Given the description of an element on the screen output the (x, y) to click on. 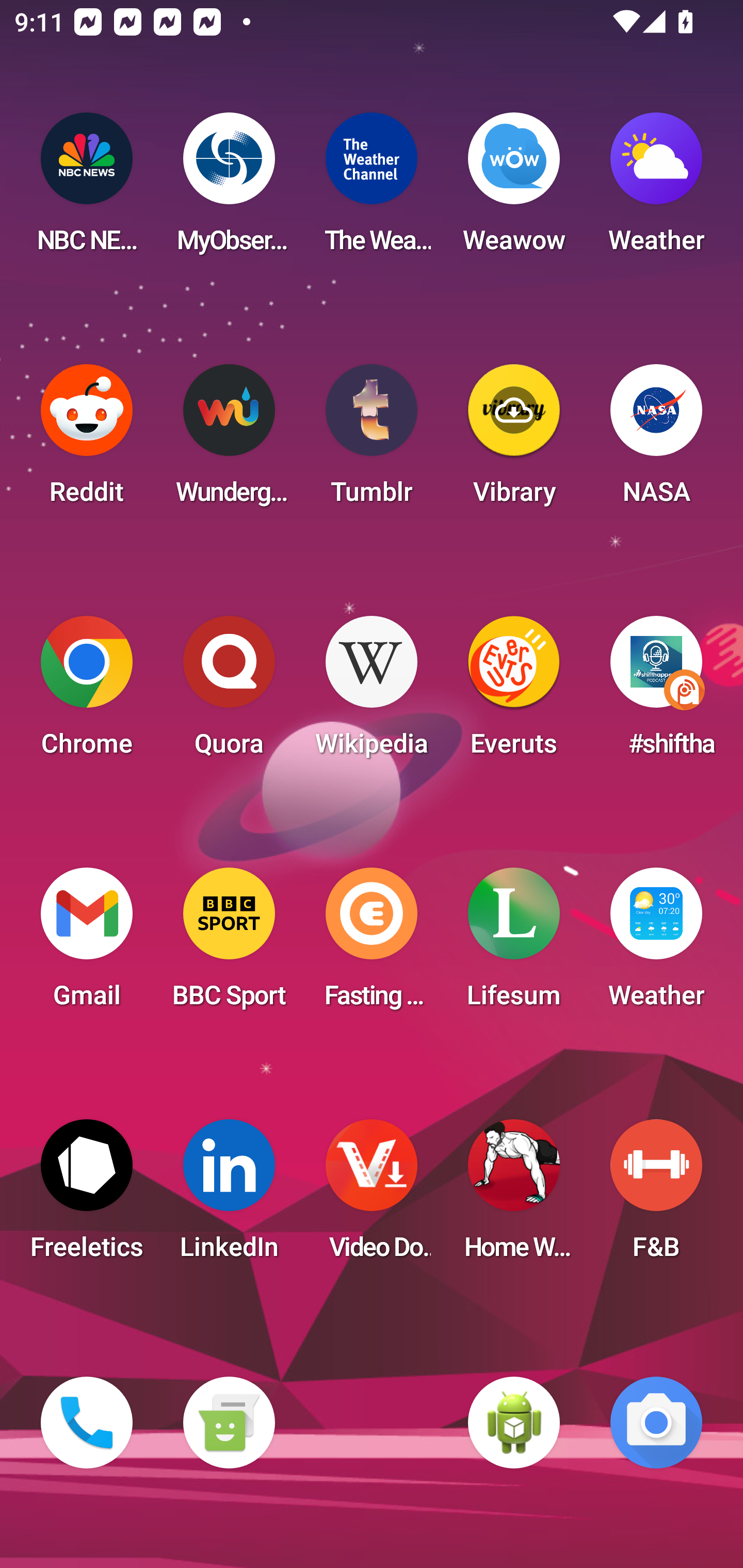
NBC NEWS (86, 188)
MyObservatory (228, 188)
The Weather Channel (371, 188)
Weawow (513, 188)
Weather (656, 188)
Reddit (86, 440)
Wunderground (228, 440)
Tumblr (371, 440)
Vibrary (513, 440)
NASA (656, 440)
Chrome (86, 692)
Quora (228, 692)
Wikipedia (371, 692)
Everuts (513, 692)
#shifthappens in the Digital Workplace Podcast (656, 692)
Gmail (86, 943)
BBC Sport (228, 943)
Fasting Coach (371, 943)
Lifesum (513, 943)
Weather (656, 943)
Freeletics (86, 1195)
LinkedIn (228, 1195)
Video Downloader & Ace Player (371, 1195)
Home Workout (513, 1195)
F&B (656, 1195)
Phone (86, 1422)
Messaging (228, 1422)
WebView Browser Tester (513, 1422)
Camera (656, 1422)
